Given the description of an element on the screen output the (x, y) to click on. 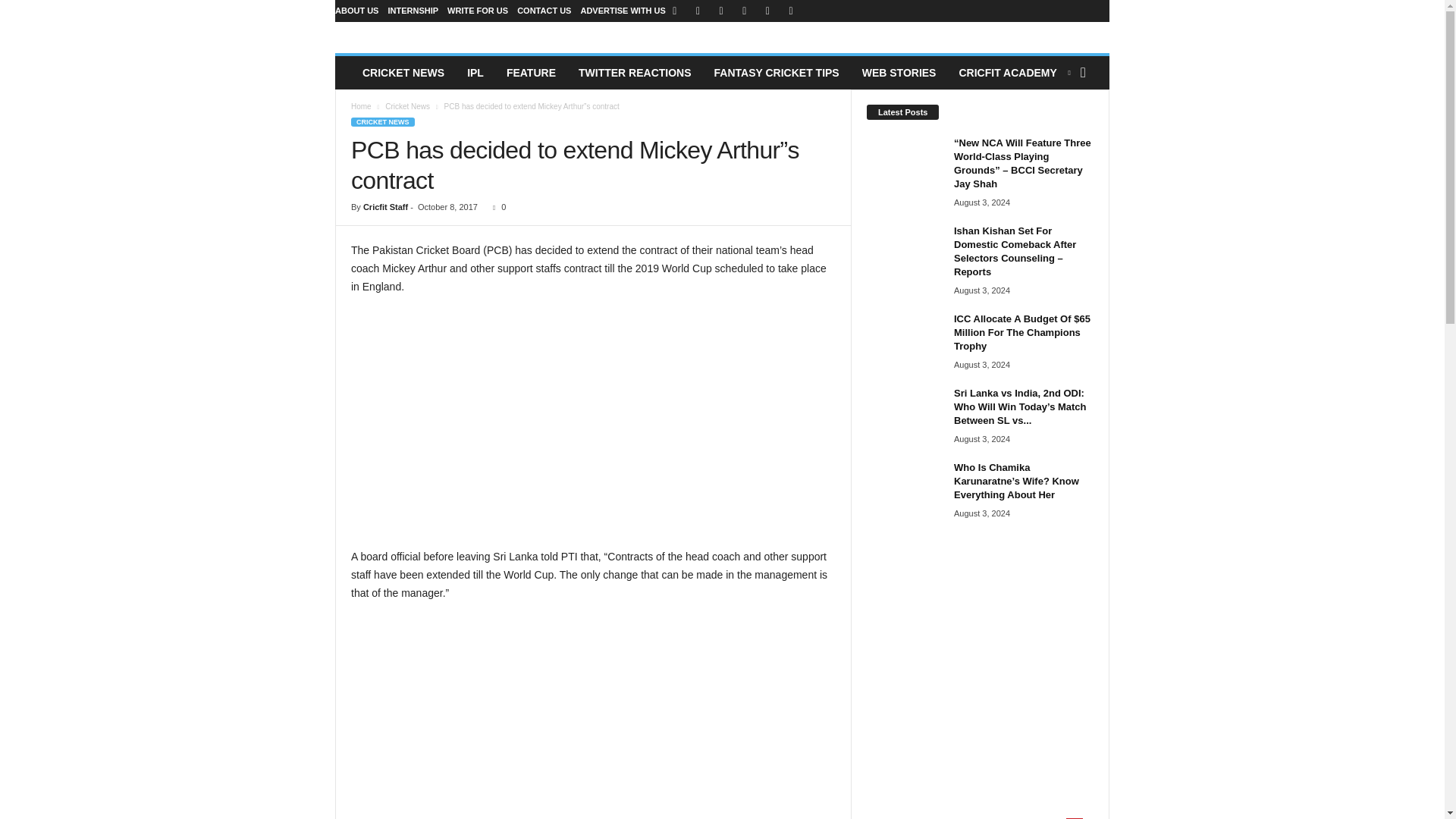
ADVERTISE WITH US (622, 10)
FEATURE (531, 72)
INTERNSHIP (412, 10)
ABOUT US (356, 10)
WRITE FOR US (477, 10)
TWITTER REACTIONS (635, 72)
IPL (475, 72)
WEB STORIES (898, 72)
View all posts in Cricket News (407, 106)
